Given the description of an element on the screen output the (x, y) to click on. 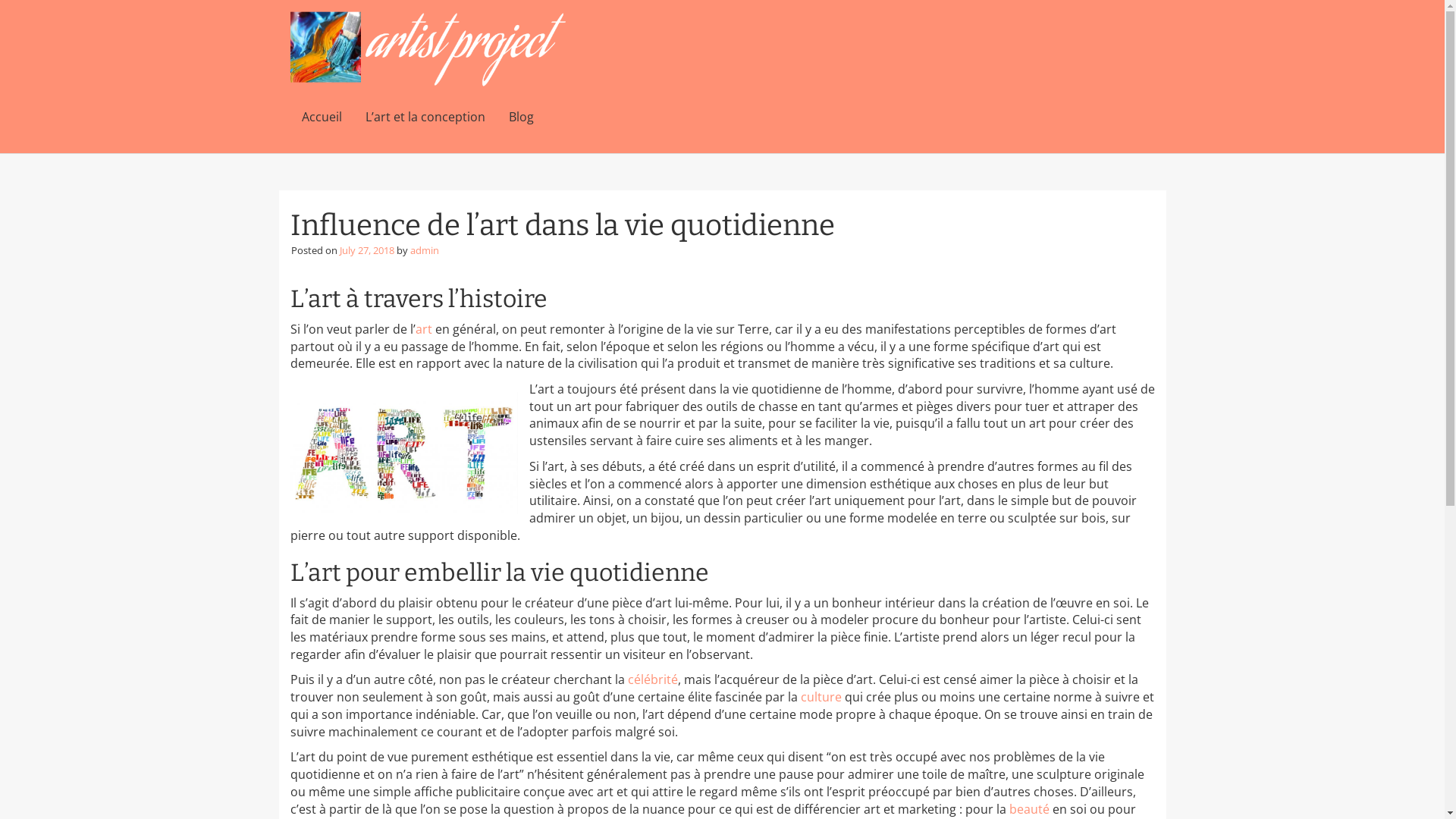
Blog Element type: text (521, 117)
admin Element type: text (423, 250)
culture Element type: text (820, 696)
July 27, 2018 Element type: text (366, 250)
artistproject.be Element type: hover (427, 49)
Accueil Element type: text (320, 117)
art Element type: text (423, 328)
